Given the description of an element on the screen output the (x, y) to click on. 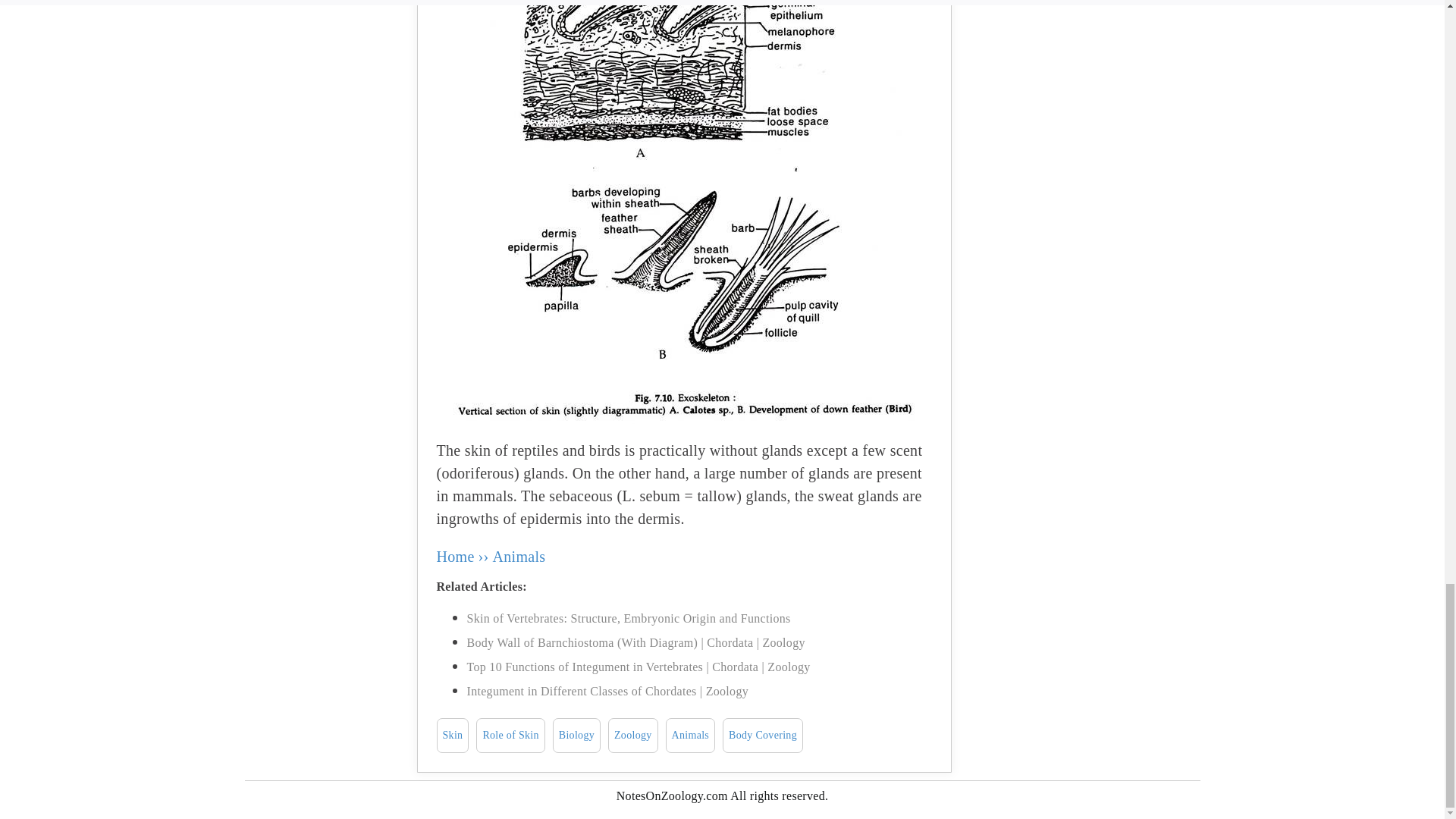
Body Covering (762, 735)
Zoology (633, 735)
Role of Skin (510, 735)
Home (455, 556)
Animals (690, 735)
Animals (519, 556)
Biology (576, 735)
Skin (452, 735)
